Given the description of an element on the screen output the (x, y) to click on. 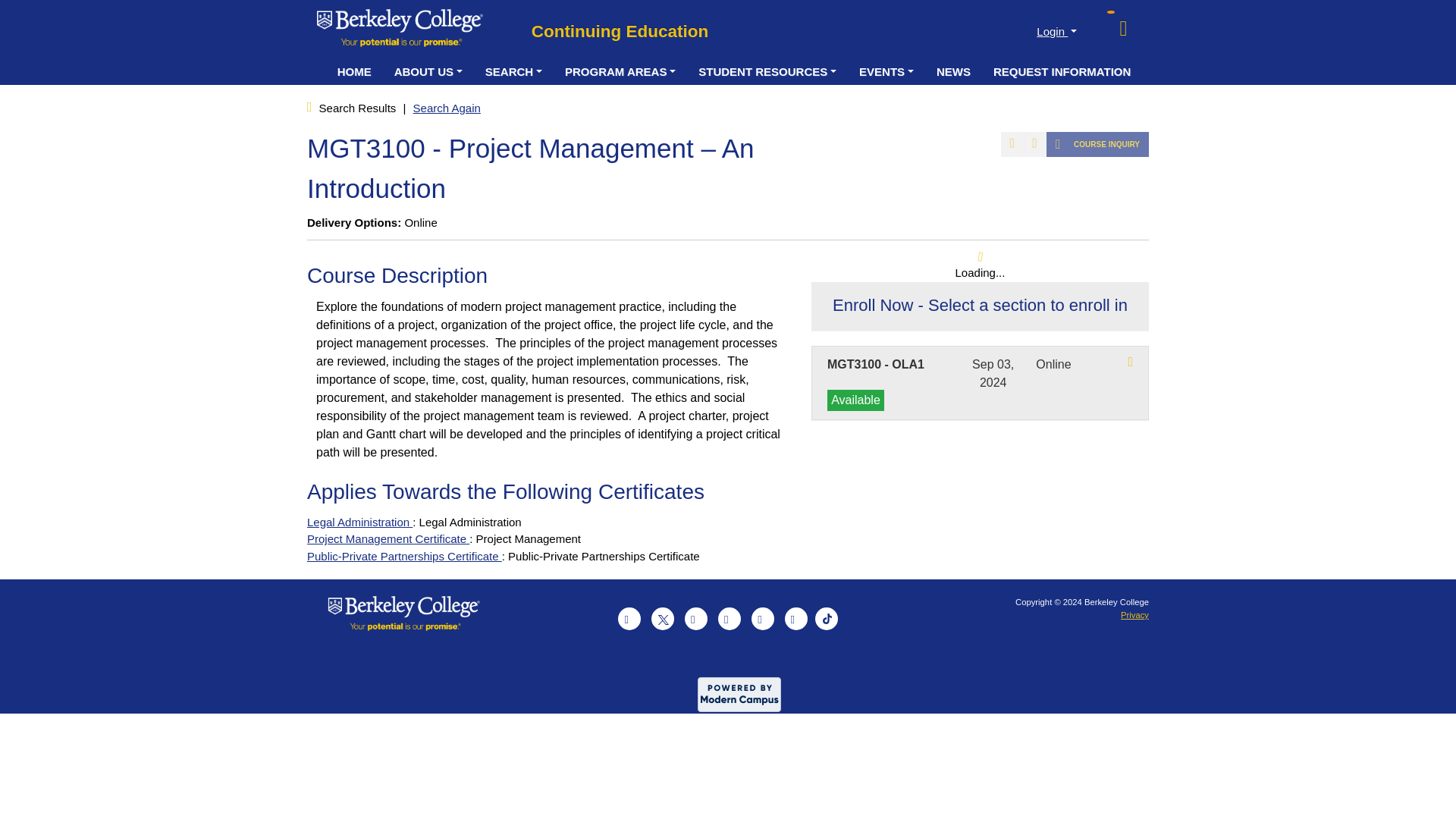
Powered by Lifelong Learning EE (738, 694)
Remind me of this course at a later date (1034, 144)
Email this information to yourself or a friend (1012, 144)
Search Results (359, 107)
SEARCH (513, 71)
NEWS (952, 71)
Search Again (446, 107)
Remind me of this course at a later date (1034, 144)
Course Inquiry (1097, 144)
HOME (354, 71)
